Given the description of an element on the screen output the (x, y) to click on. 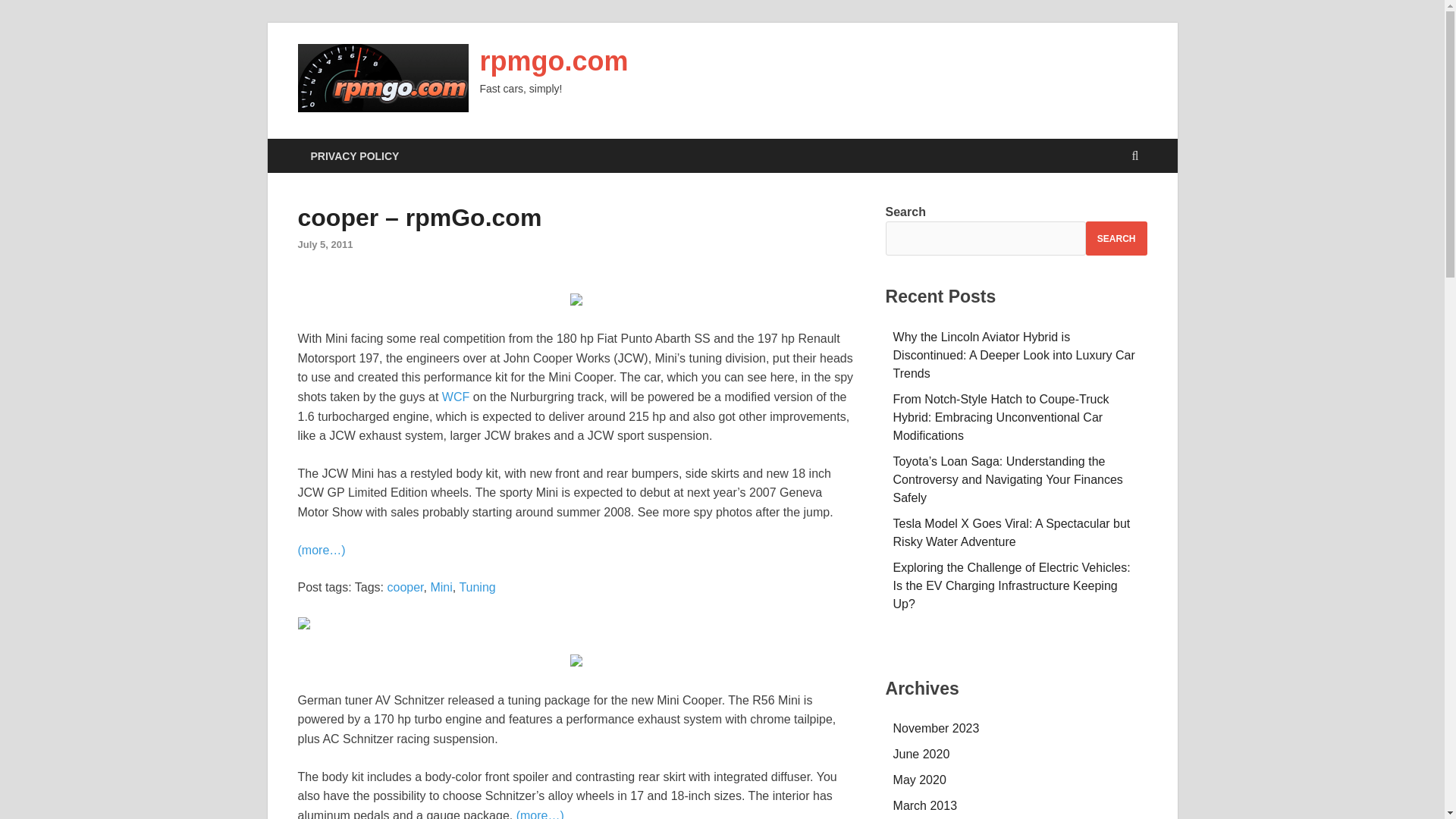
WCF (455, 396)
Mini (440, 586)
Tuning (476, 586)
cooper (405, 586)
PRIVACY POLICY (354, 155)
rpmgo.com (553, 60)
July 5, 2011 (324, 244)
